Given the description of an element on the screen output the (x, y) to click on. 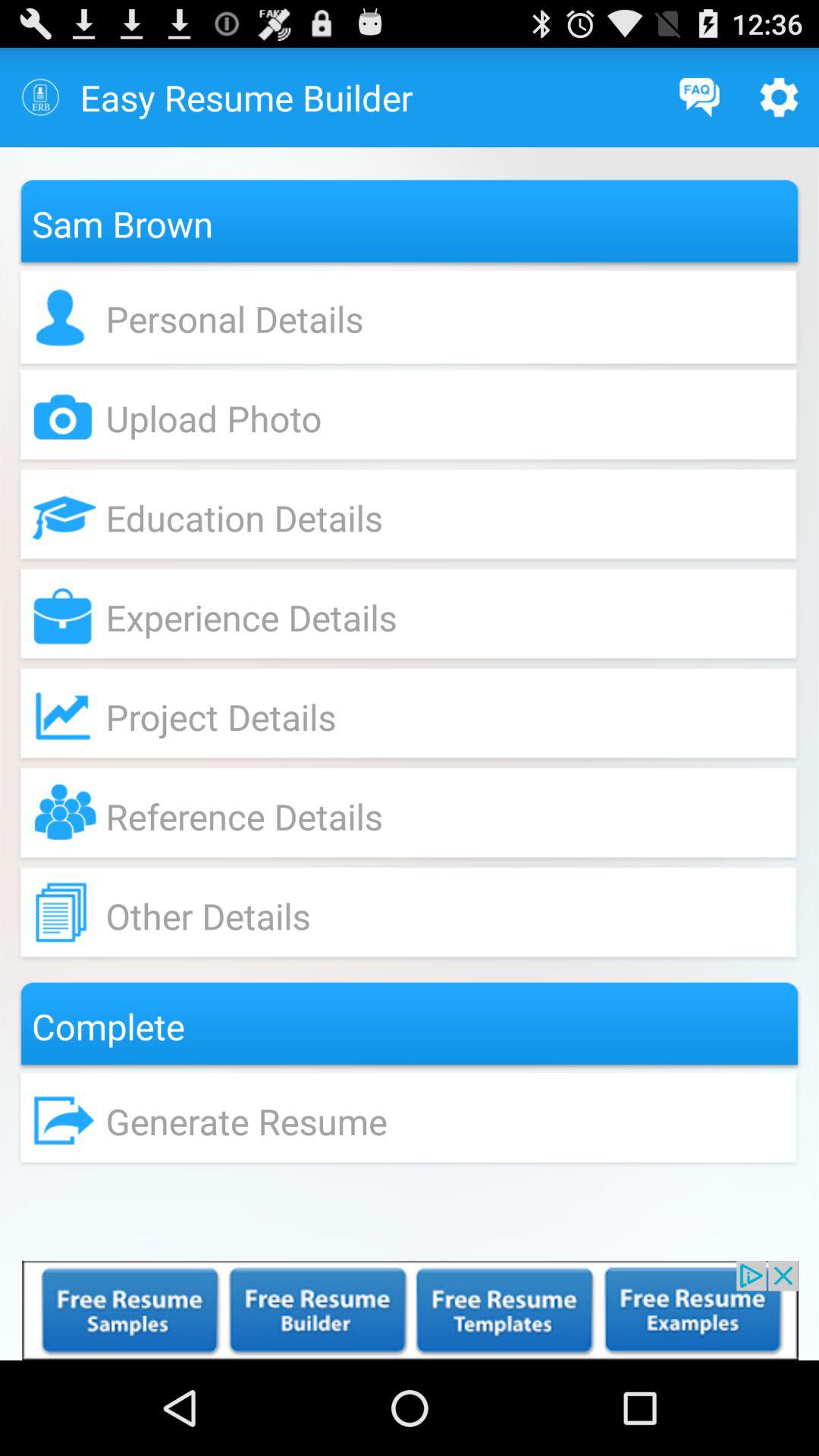
frequently asked the questions (699, 97)
